Given the description of an element on the screen output the (x, y) to click on. 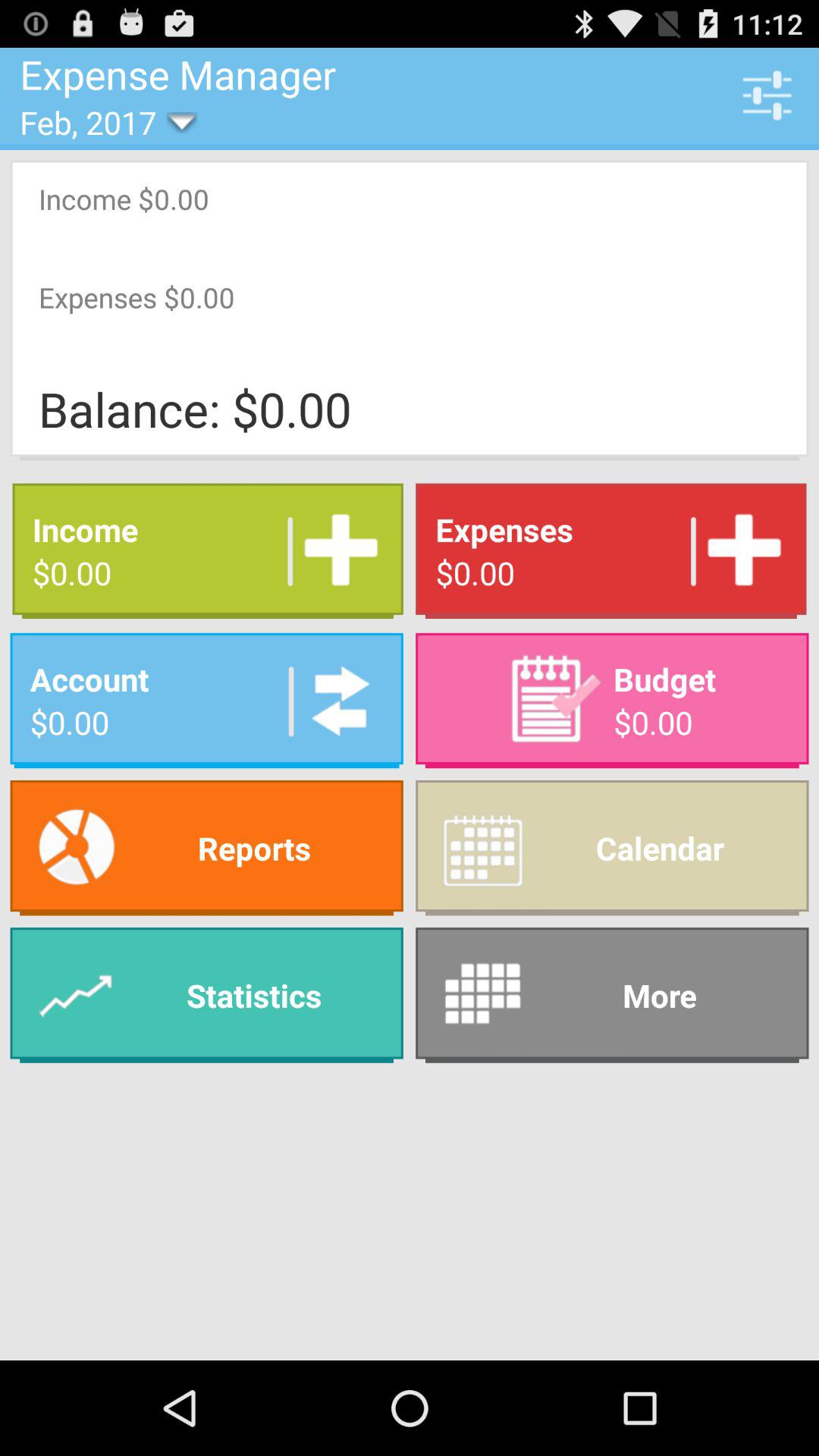
choose item below the expense manager item (98, 121)
